Given the description of an element on the screen output the (x, y) to click on. 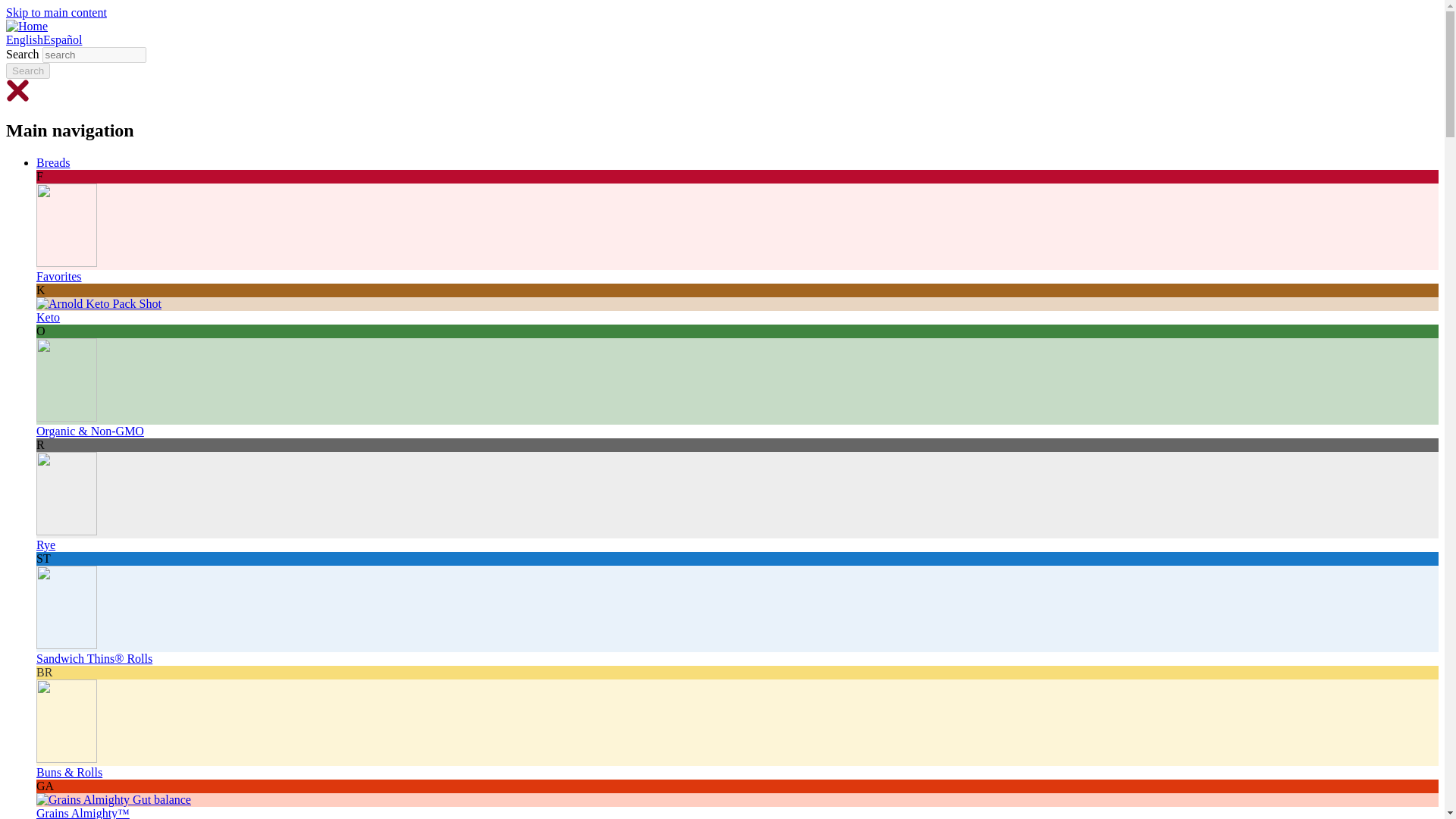
Home (26, 25)
Search (27, 70)
Breads (52, 162)
Rye (45, 544)
Skip to main content (55, 11)
English (24, 39)
Favorites (58, 276)
Keto (47, 317)
Search (27, 70)
